Given the description of an element on the screen output the (x, y) to click on. 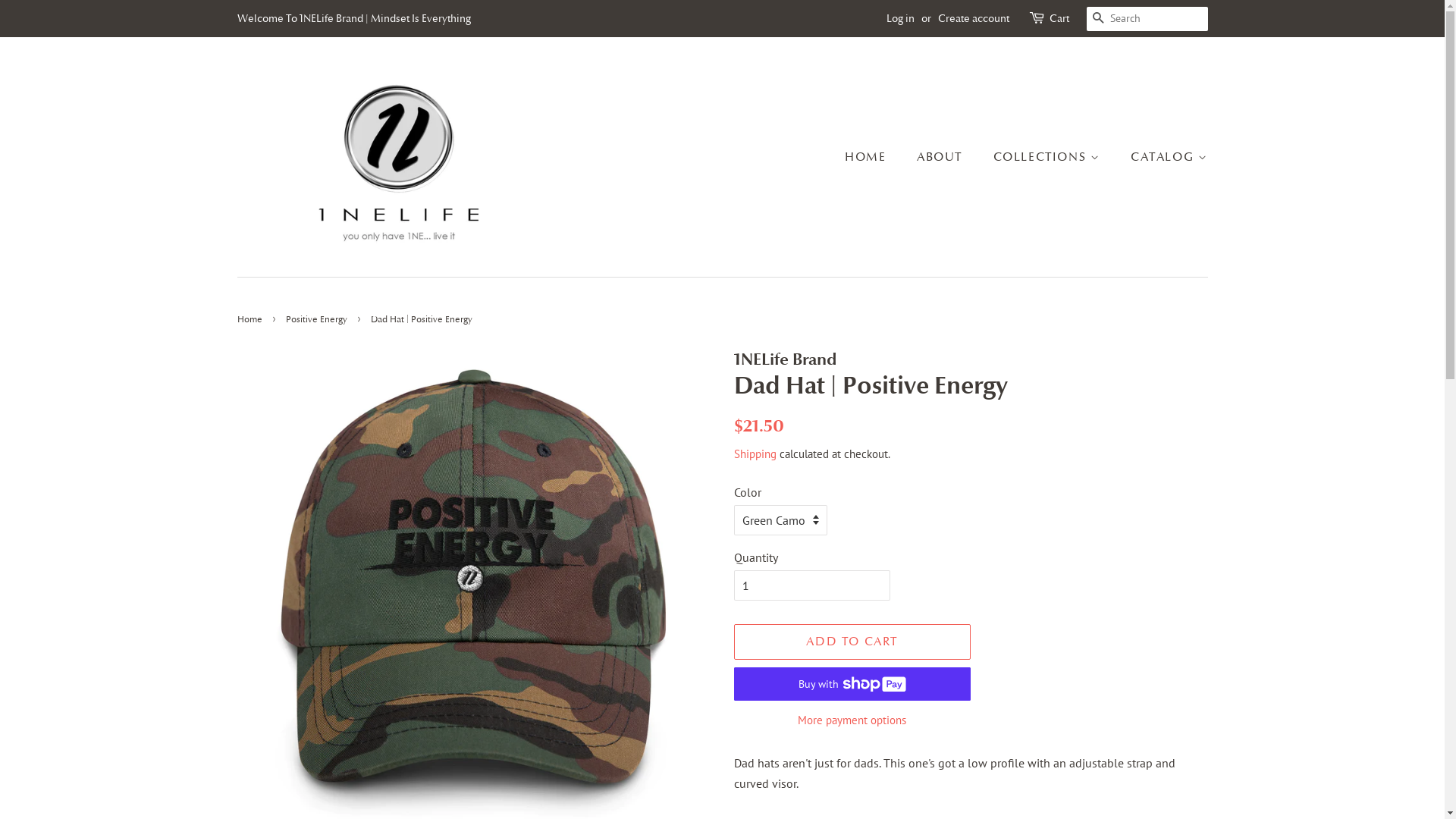
CATALOG Element type: text (1163, 156)
Log in Element type: text (899, 18)
SEARCH Element type: text (1097, 18)
More payment options Element type: text (852, 719)
Positive Energy Element type: text (317, 319)
ABOUT Element type: text (941, 156)
Home Element type: text (250, 319)
HOME Element type: text (872, 156)
Create account Element type: text (972, 18)
COLLECTIONS Element type: text (1048, 156)
Shipping Element type: text (755, 453)
ADD TO CART Element type: text (852, 641)
Cart Element type: text (1059, 18)
